Given the description of an element on the screen output the (x, y) to click on. 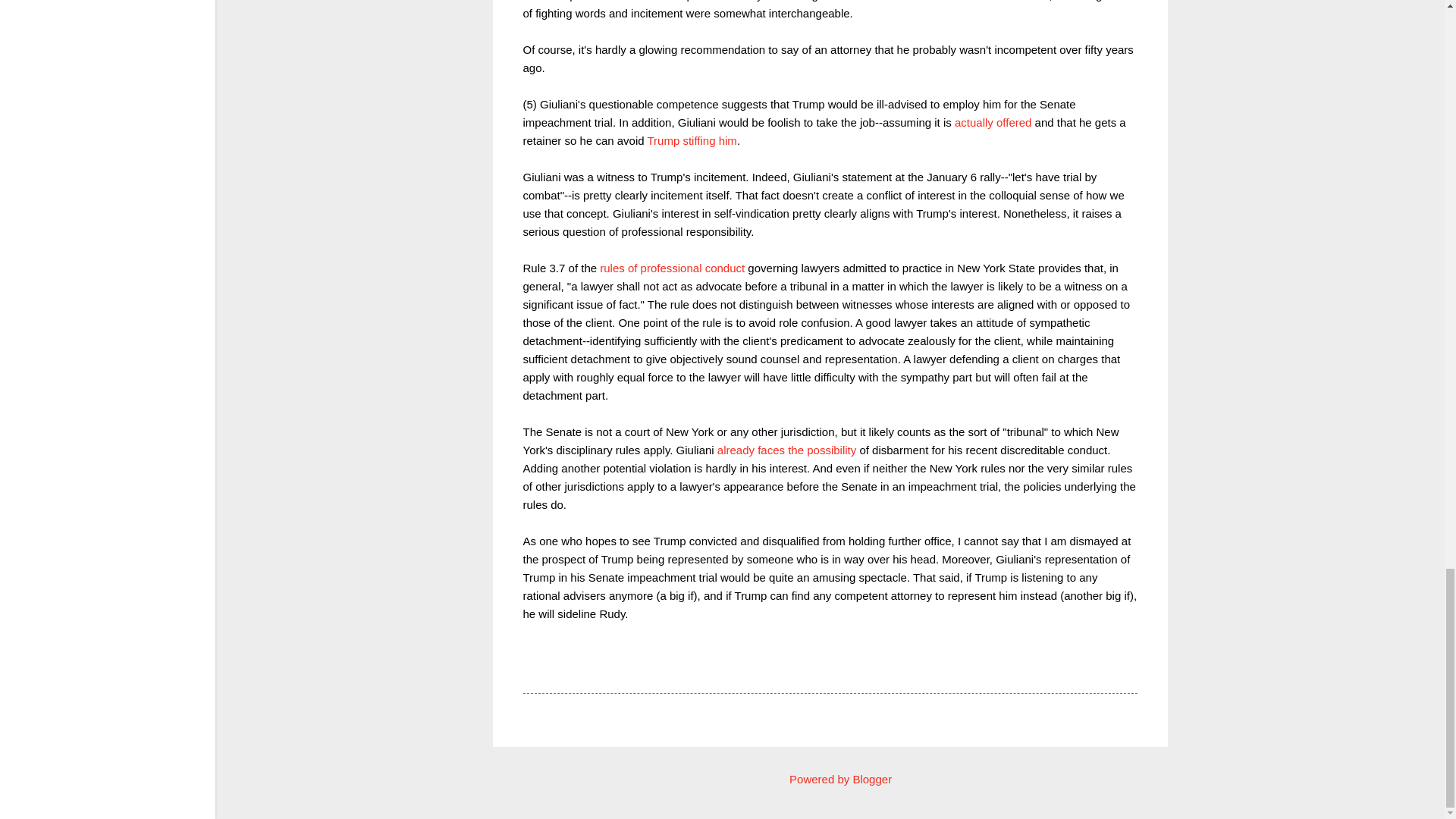
Email Post (562, 665)
Trump stiffing him (691, 140)
actually offered (992, 122)
rules of professional conduct (671, 267)
already faces the possibility (786, 449)
Powered by Blogger (829, 779)
